Given the description of an element on the screen output the (x, y) to click on. 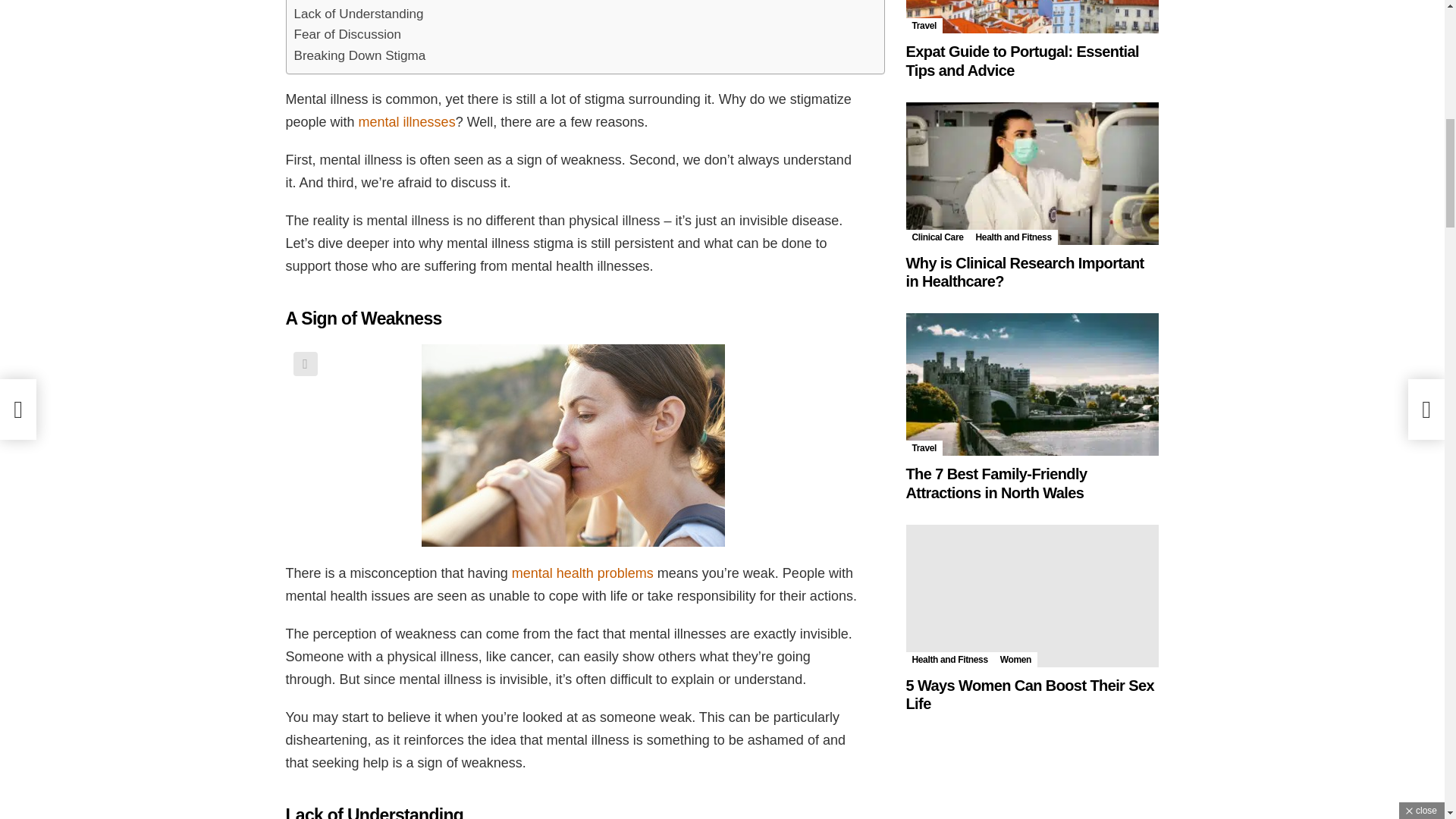
Lack of Understanding (358, 14)
Breaking Down Stigma (360, 55)
A Sign of Weakness (352, 2)
Fear of Discussion (347, 34)
